Given the description of an element on the screen output the (x, y) to click on. 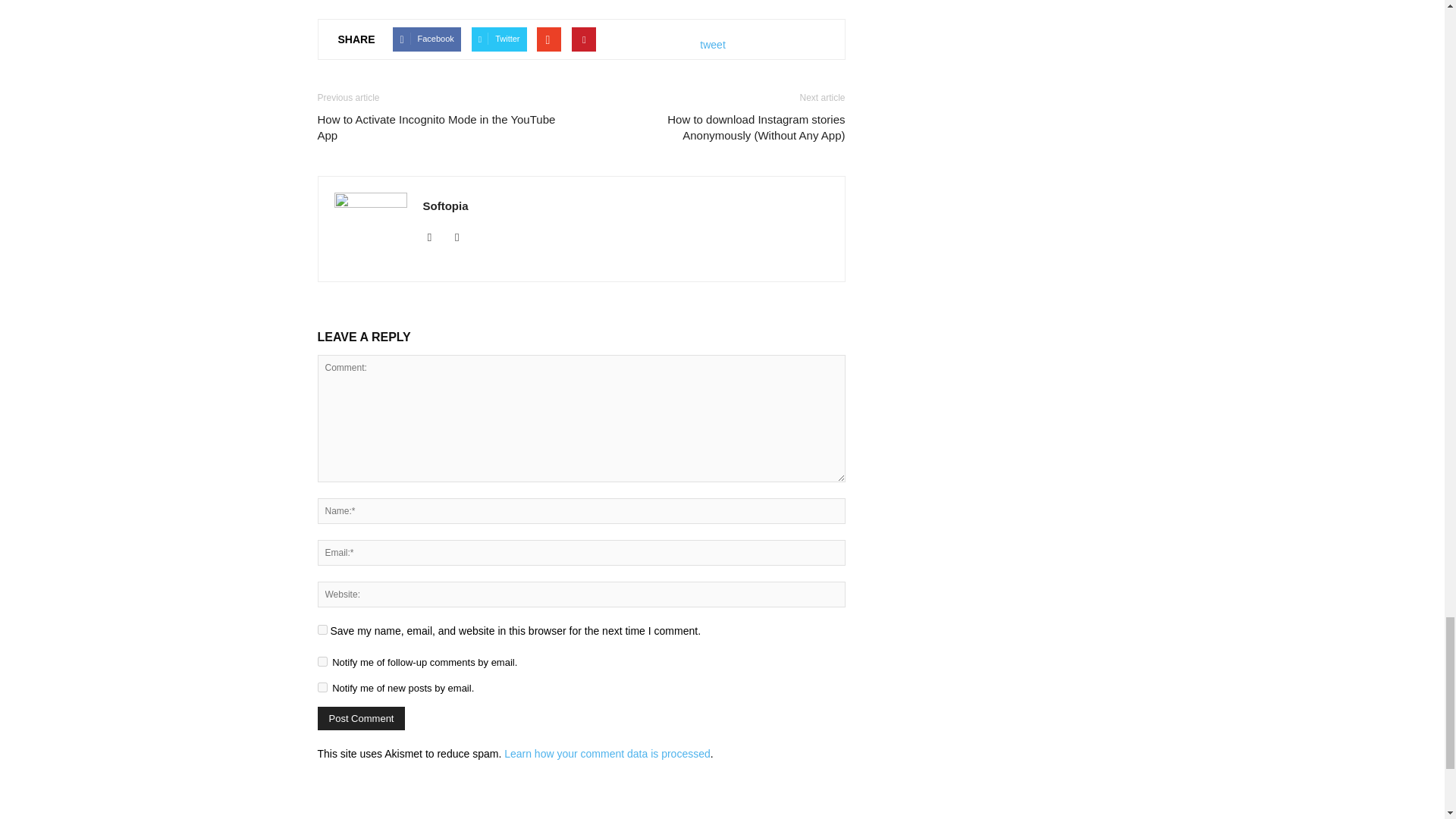
subscribe (321, 661)
Post Comment (360, 718)
subscribe (321, 687)
yes (321, 629)
